Given the description of an element on the screen output the (x, y) to click on. 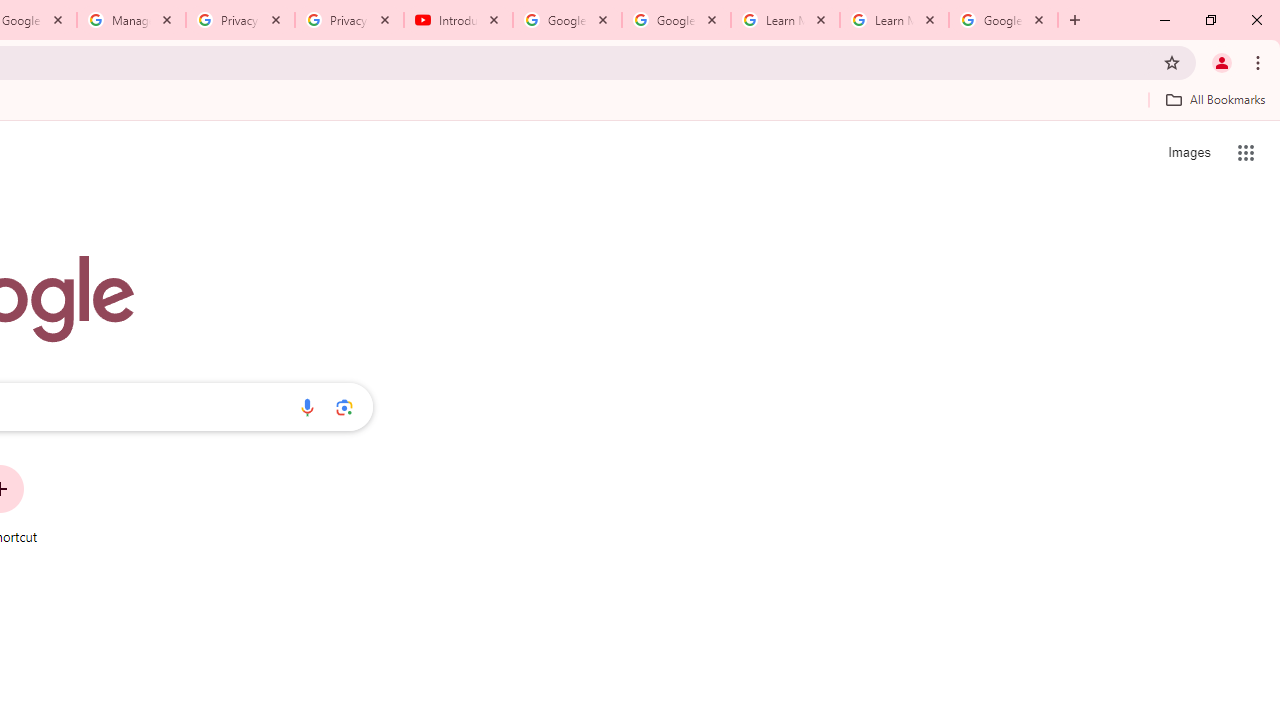
Search for Images  (1188, 152)
Search by voice (307, 407)
All Bookmarks (1215, 99)
Introduction | Google Privacy Policy - YouTube (458, 20)
Google Account Help (567, 20)
Google Account Help (676, 20)
Google Account (1003, 20)
